Given the description of an element on the screen output the (x, y) to click on. 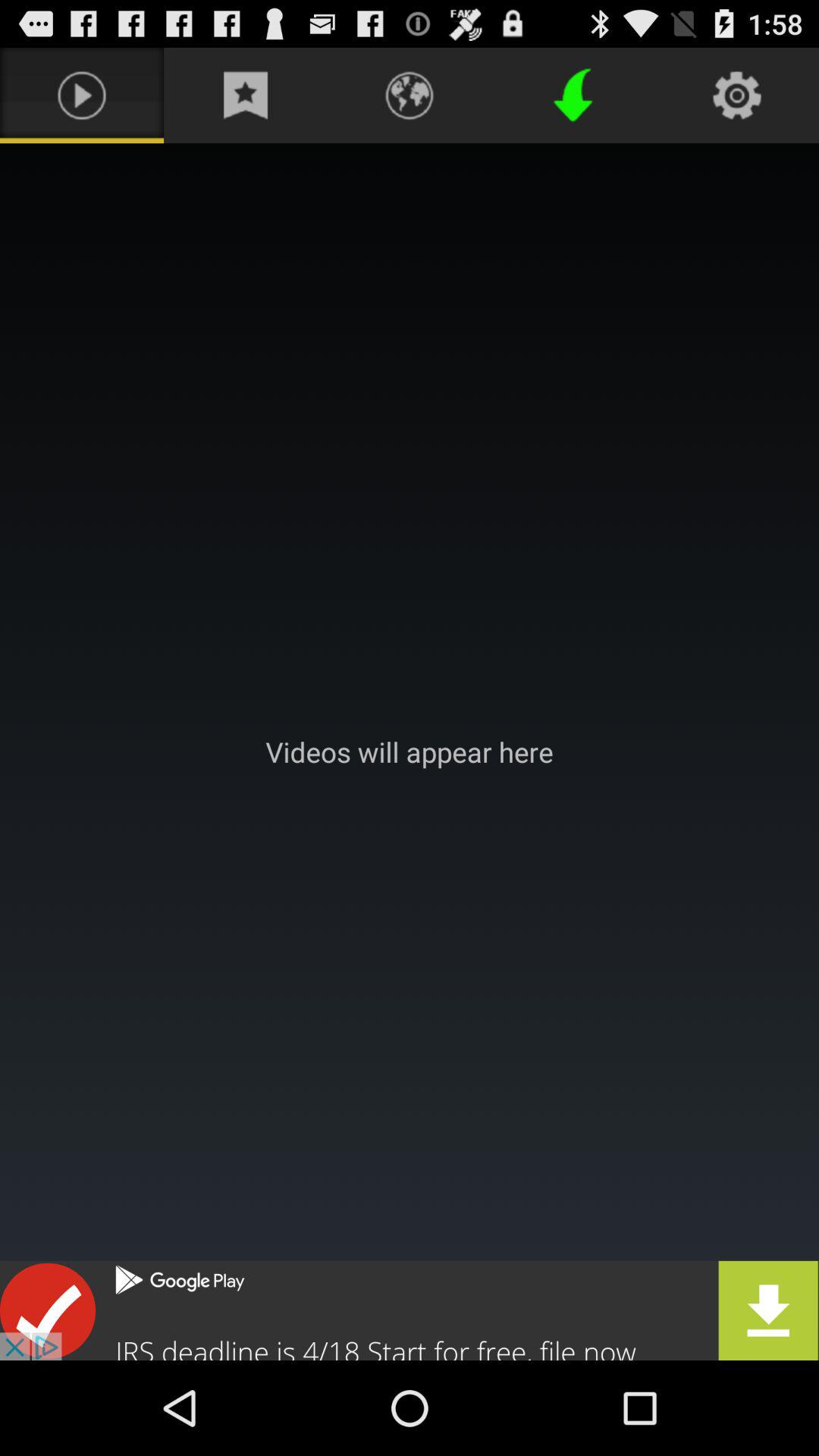
videos watching screen (409, 751)
